Given the description of an element on the screen output the (x, y) to click on. 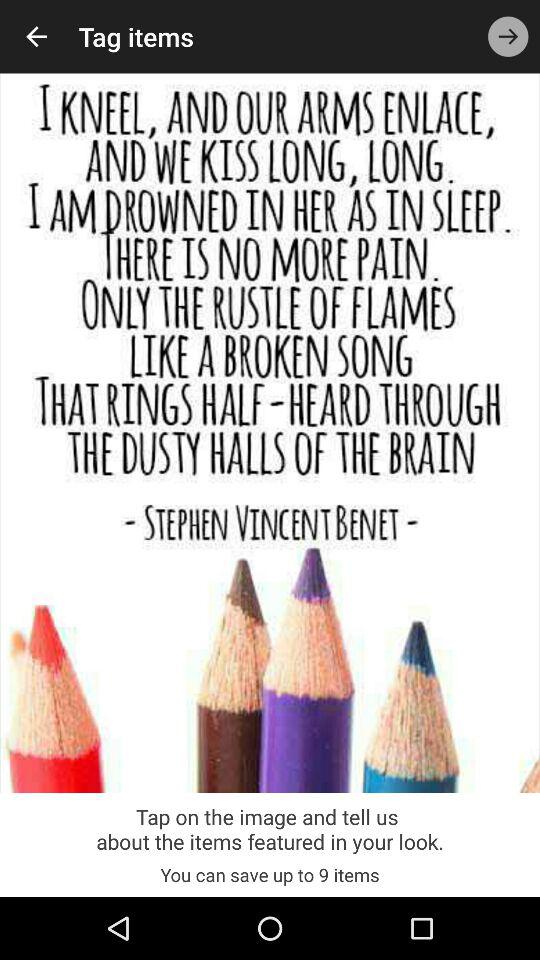
click icon at the top right corner (508, 36)
